Given the description of an element on the screen output the (x, y) to click on. 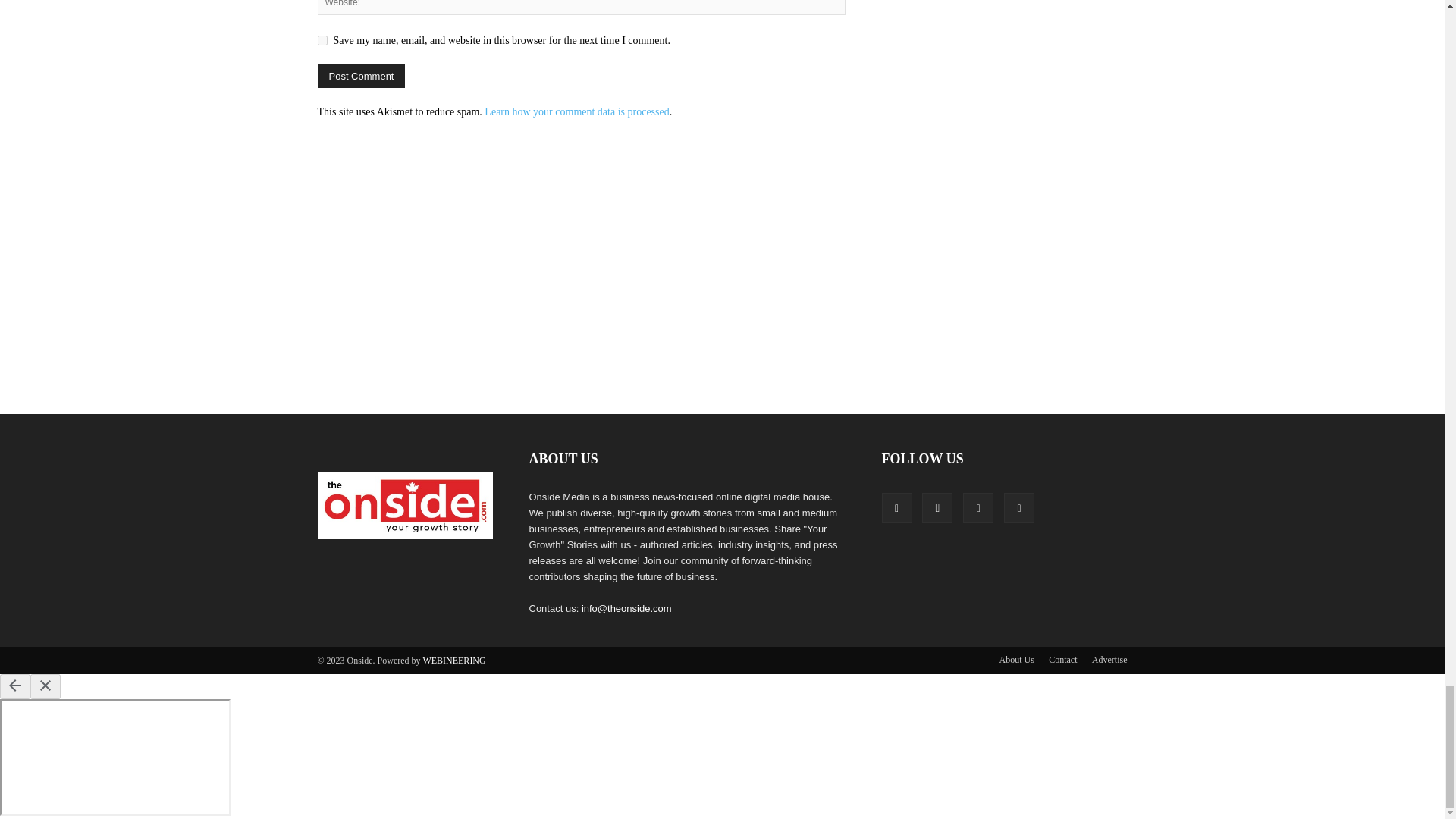
Post Comment (360, 75)
yes (321, 40)
